Given the description of an element on the screen output the (x, y) to click on. 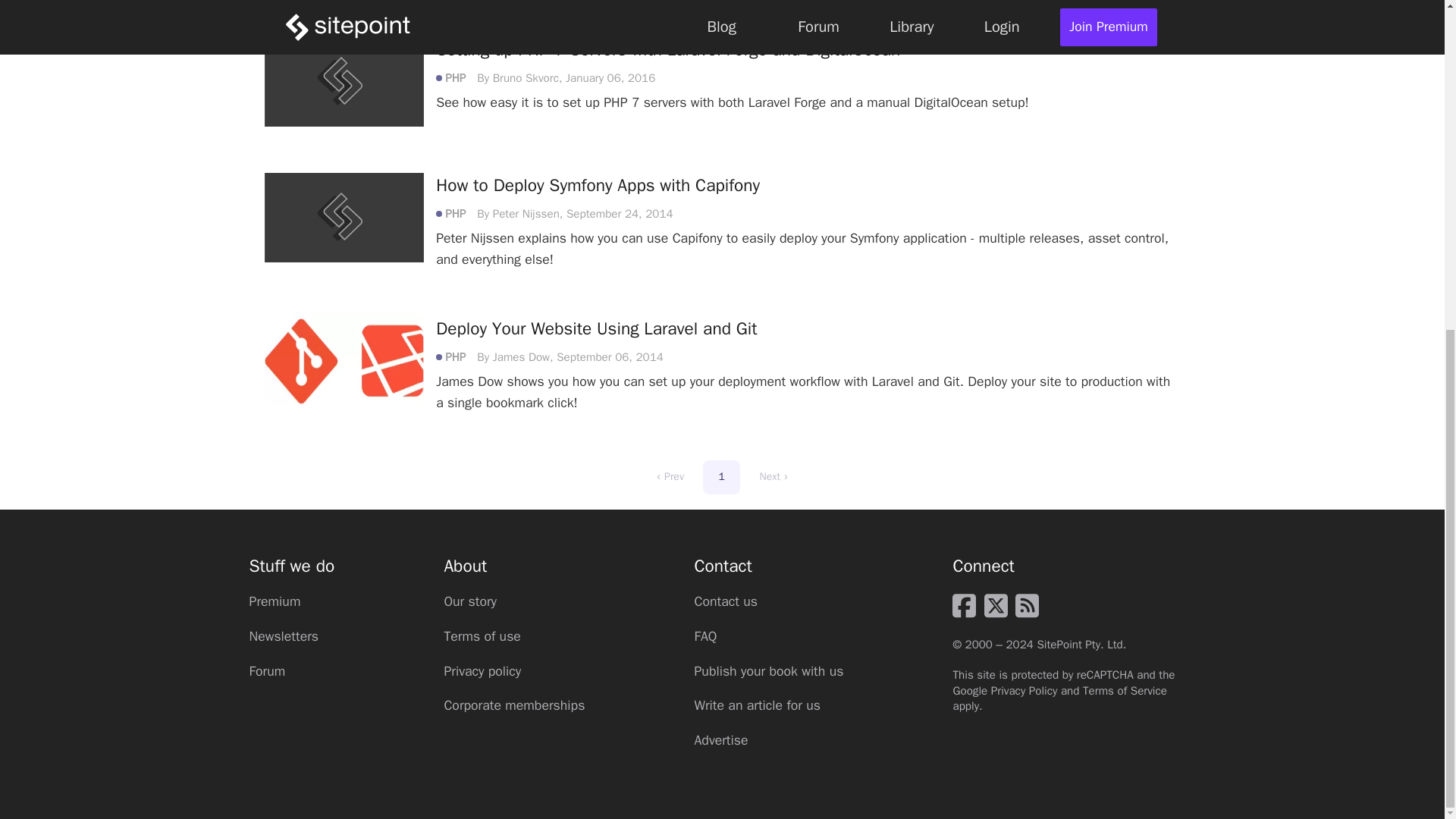
PHP (456, 213)
PHP (456, 77)
How to Deploy Symfony Apps with Capifony (597, 185)
Setting up PHP 7 Servers with Laravel Forge and DigitalOcean (667, 49)
By Bruno Skvorc (518, 77)
